Given the description of an element on the screen output the (x, y) to click on. 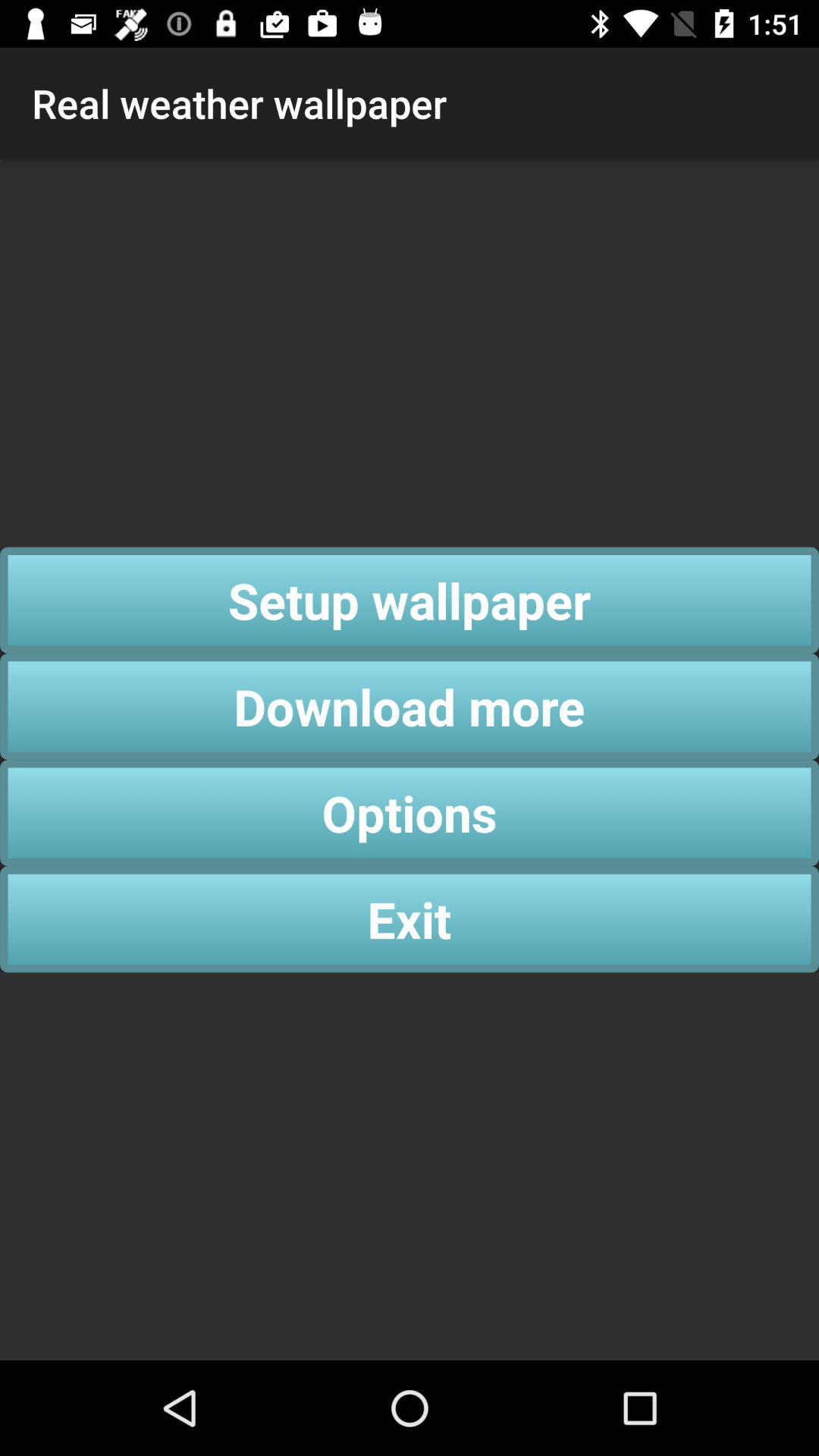
turn on icon below download more (409, 812)
